Given the description of an element on the screen output the (x, y) to click on. 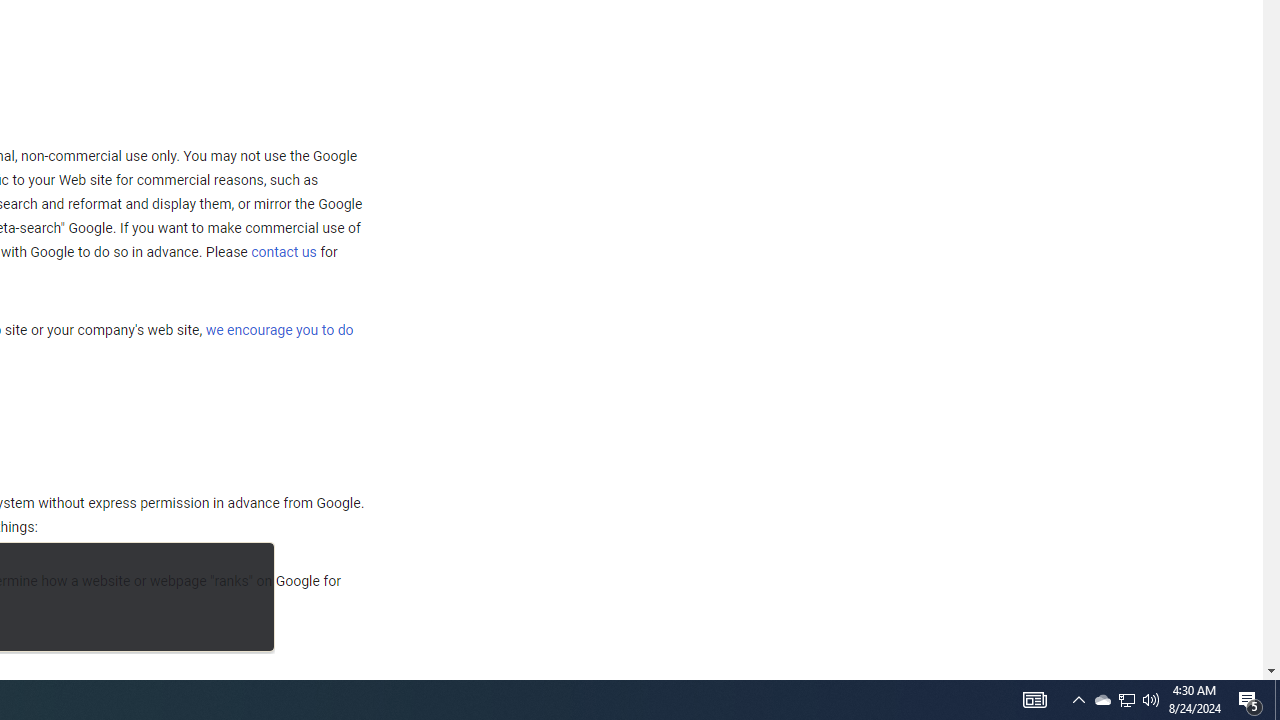
contact us (283, 251)
